Given the description of an element on the screen output the (x, y) to click on. 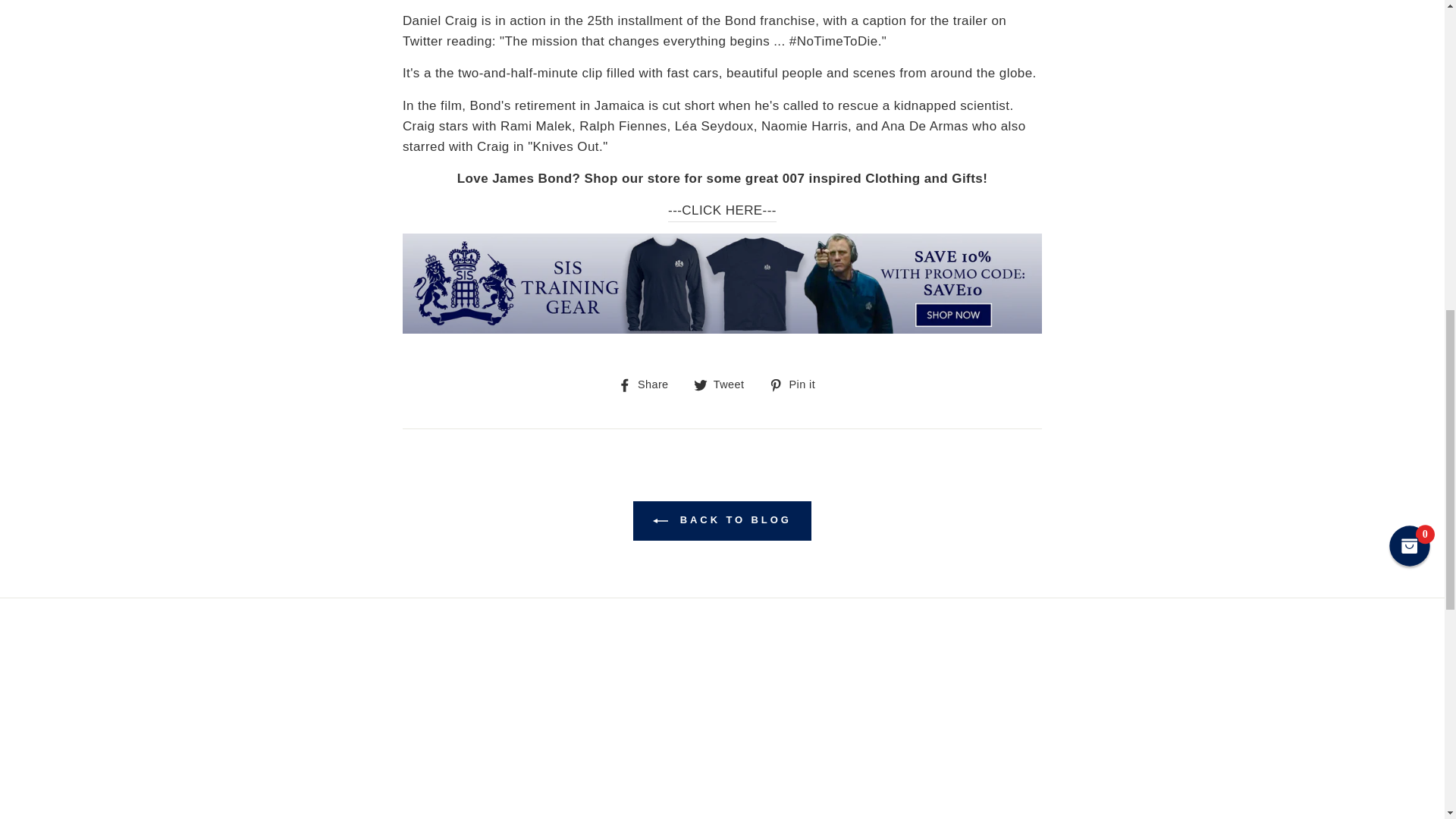
SIS Training Gear (722, 210)
Pin on Pinterest (797, 383)
Share on Facebook (648, 383)
Tweet on Twitter (724, 383)
James Bond SIS Training Gear (722, 329)
